Given the description of an element on the screen output the (x, y) to click on. 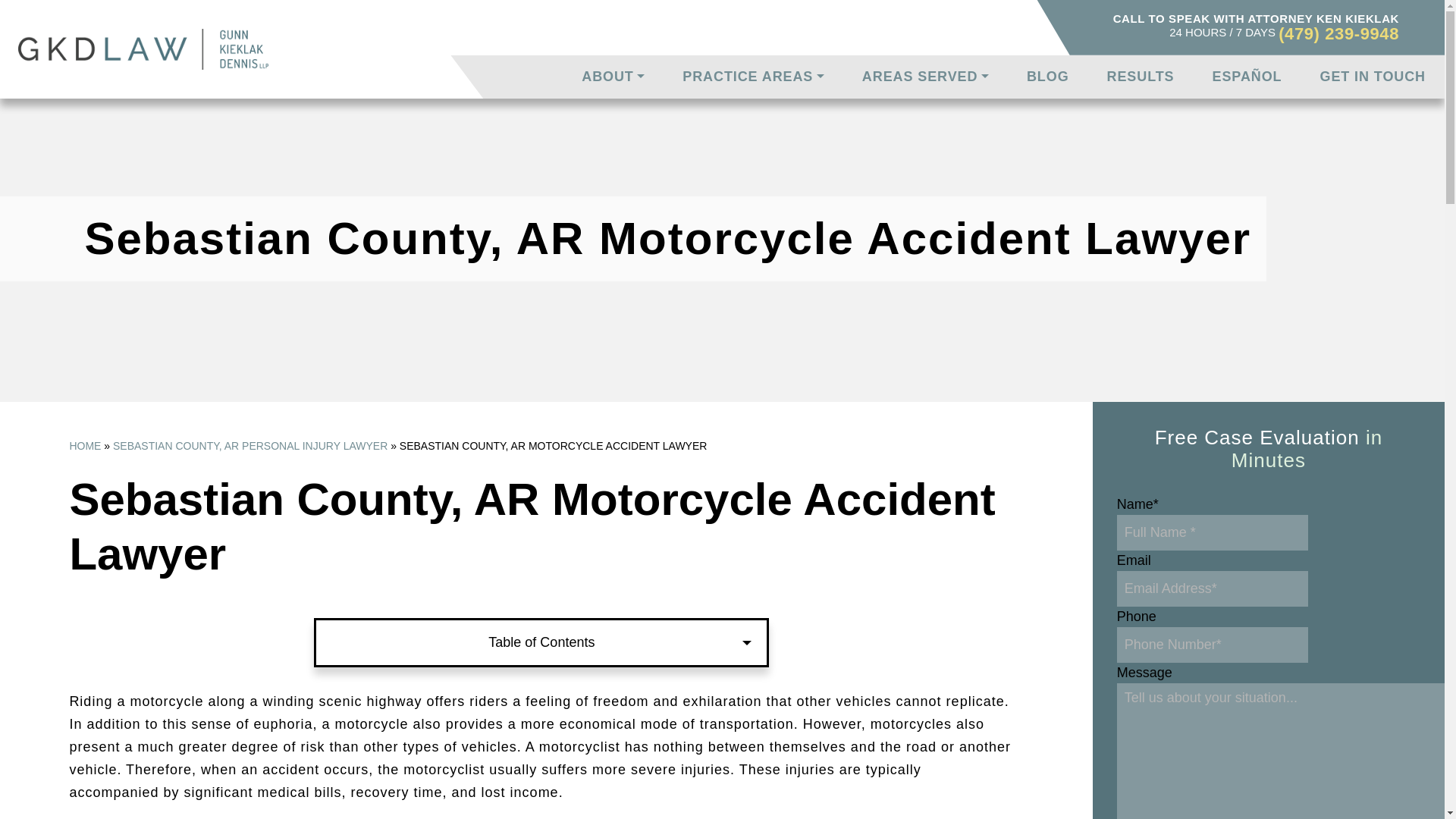
RESULTS (1140, 76)
PRACTICE AREAS (753, 76)
ABOUT (612, 76)
AREAS SERVED (924, 76)
BLOG (1047, 76)
